Given the description of an element on the screen output the (x, y) to click on. 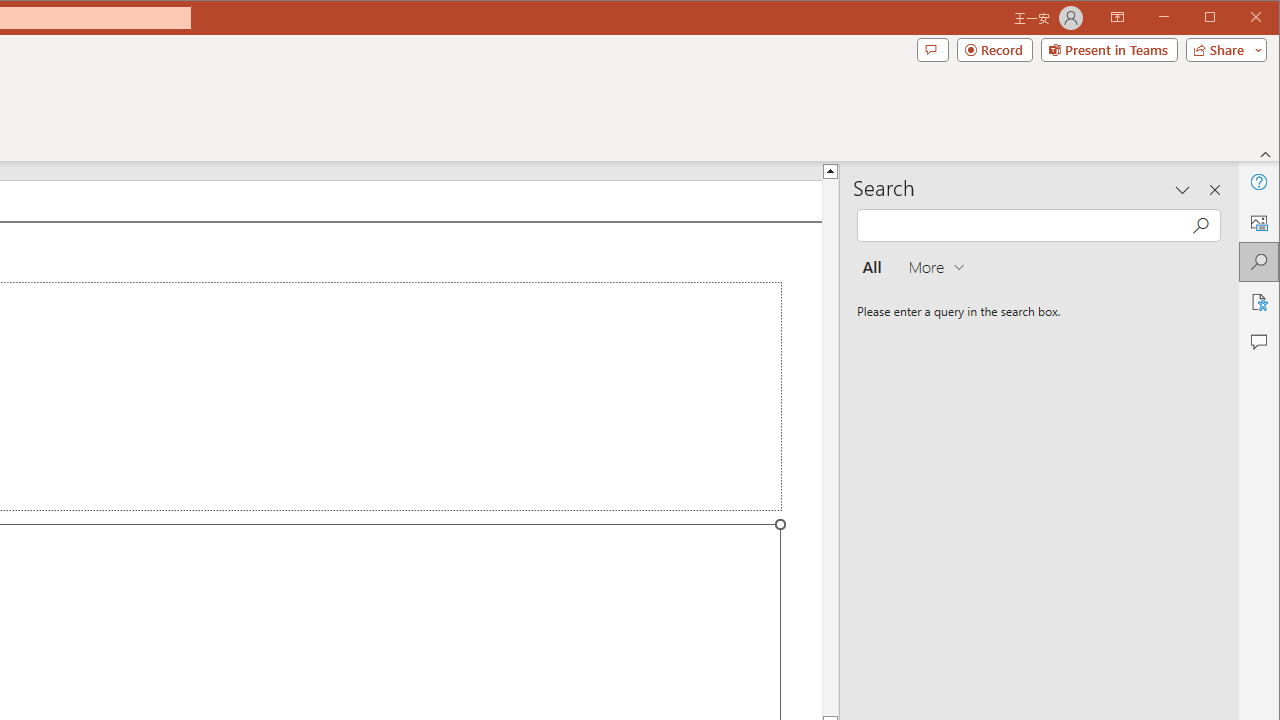
Maximize (1238, 18)
